Given the description of an element on the screen output the (x, y) to click on. 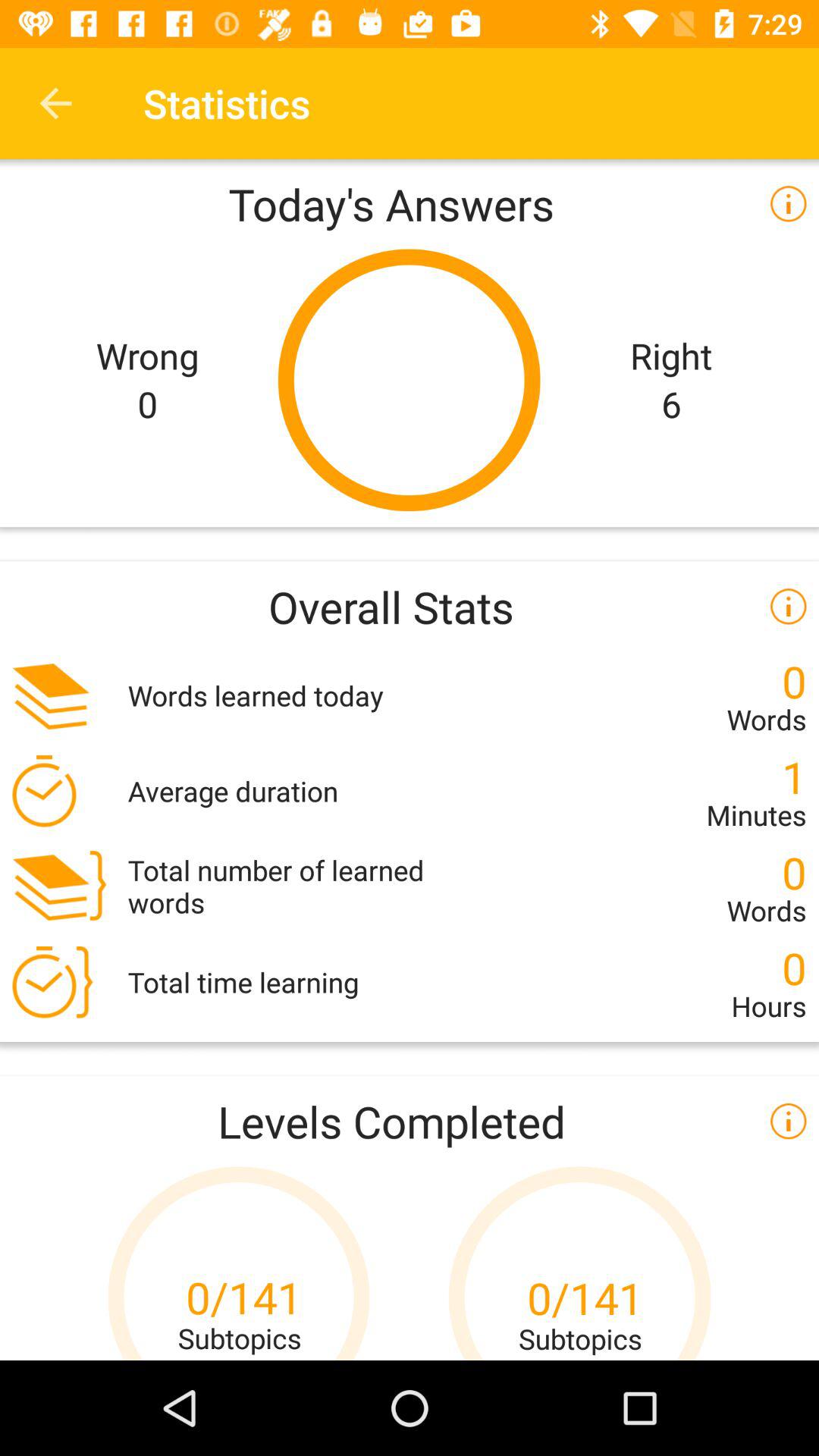
launch the levels completed icon (409, 1121)
